Given the description of an element on the screen output the (x, y) to click on. 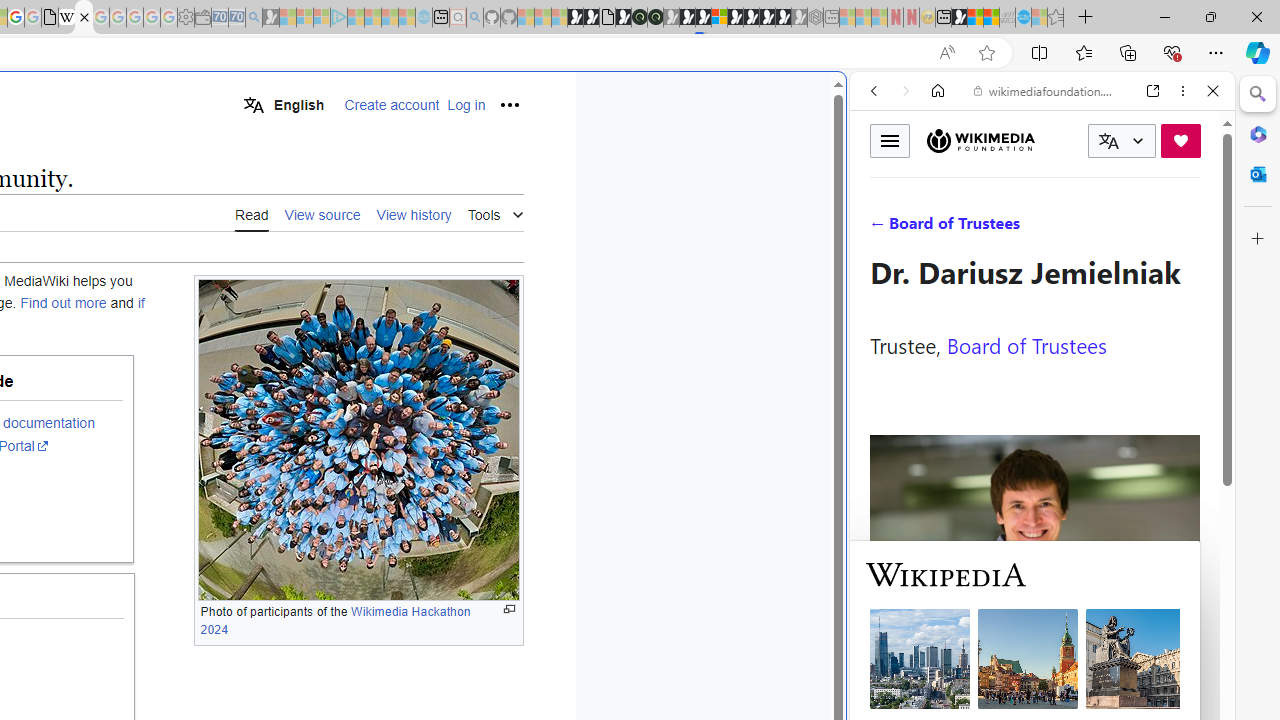
View source (322, 214)
Target page - Wikipedia (66, 17)
English (283, 104)
Frequently visited (418, 265)
